Given the description of an element on the screen output the (x, y) to click on. 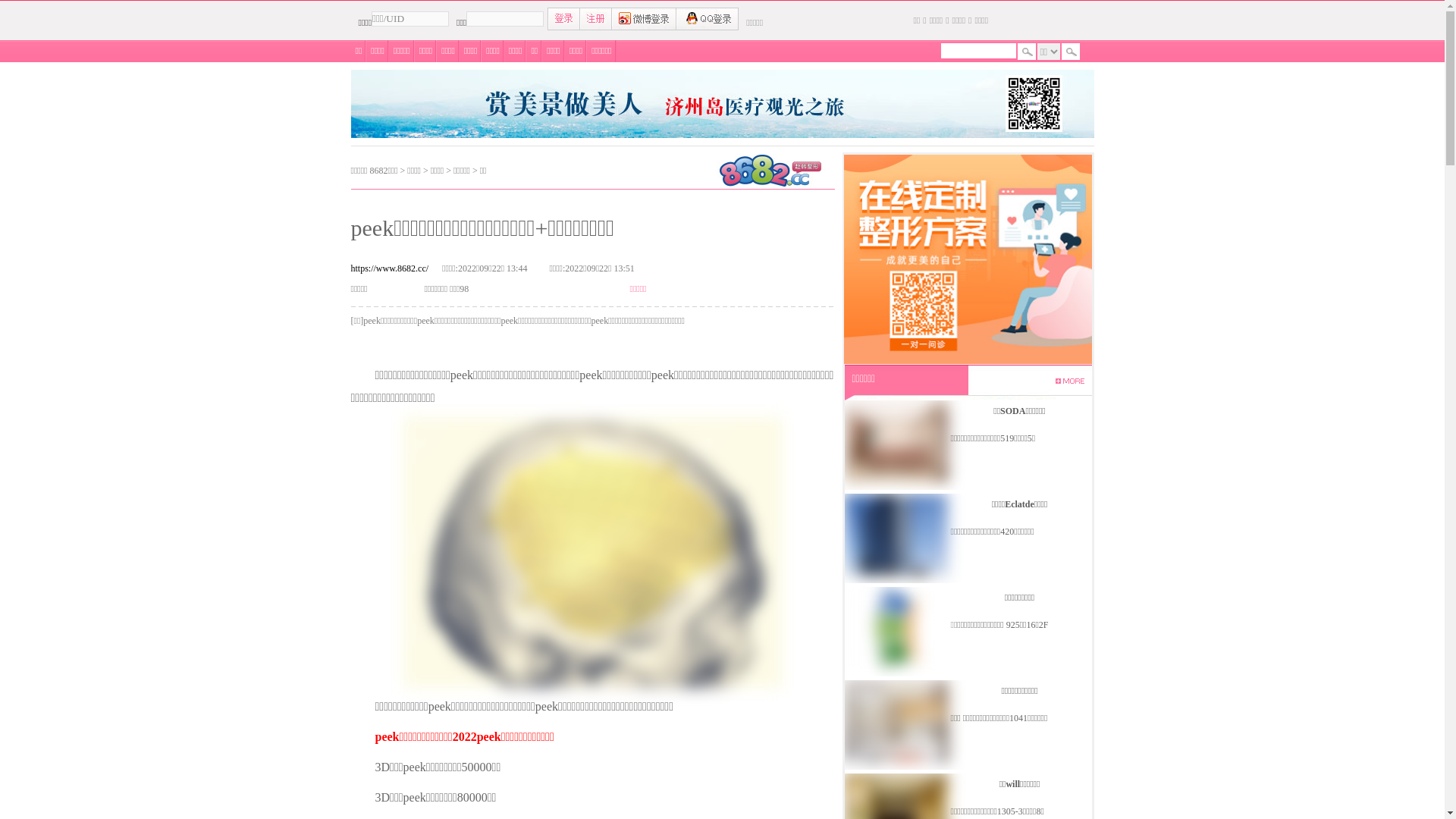
https://www.8682.cc/ Element type: text (389, 268)
